Given the description of an element on the screen output the (x, y) to click on. 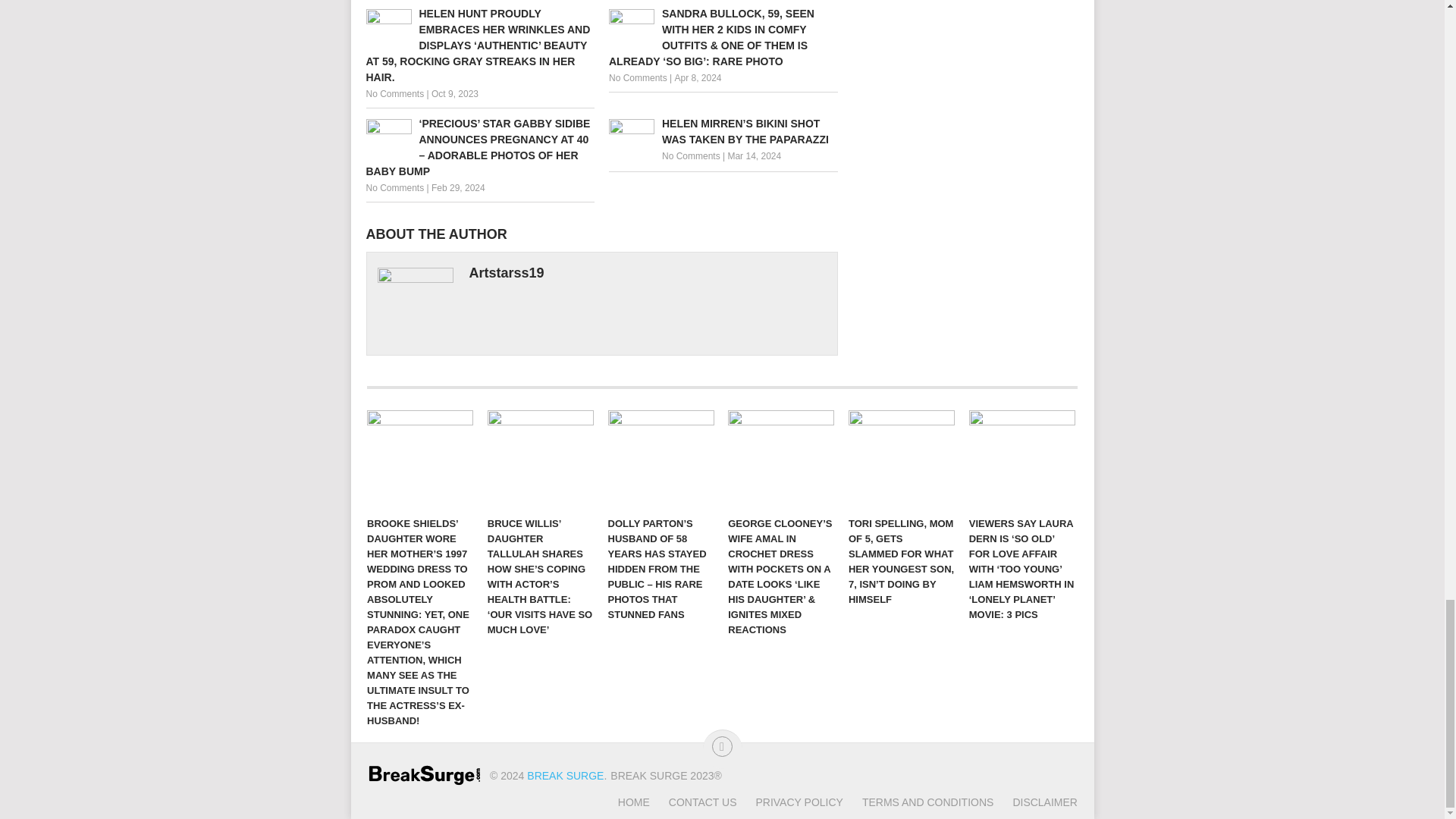
No Comments (691, 155)
CONTACT US (692, 802)
HOME (633, 802)
TERMS AND CONDITIONS (917, 802)
No Comments (637, 77)
BREAK SURGE (565, 775)
PRIVACY POLICY (789, 802)
No Comments (394, 93)
No Comments (394, 187)
